Given the description of an element on the screen output the (x, y) to click on. 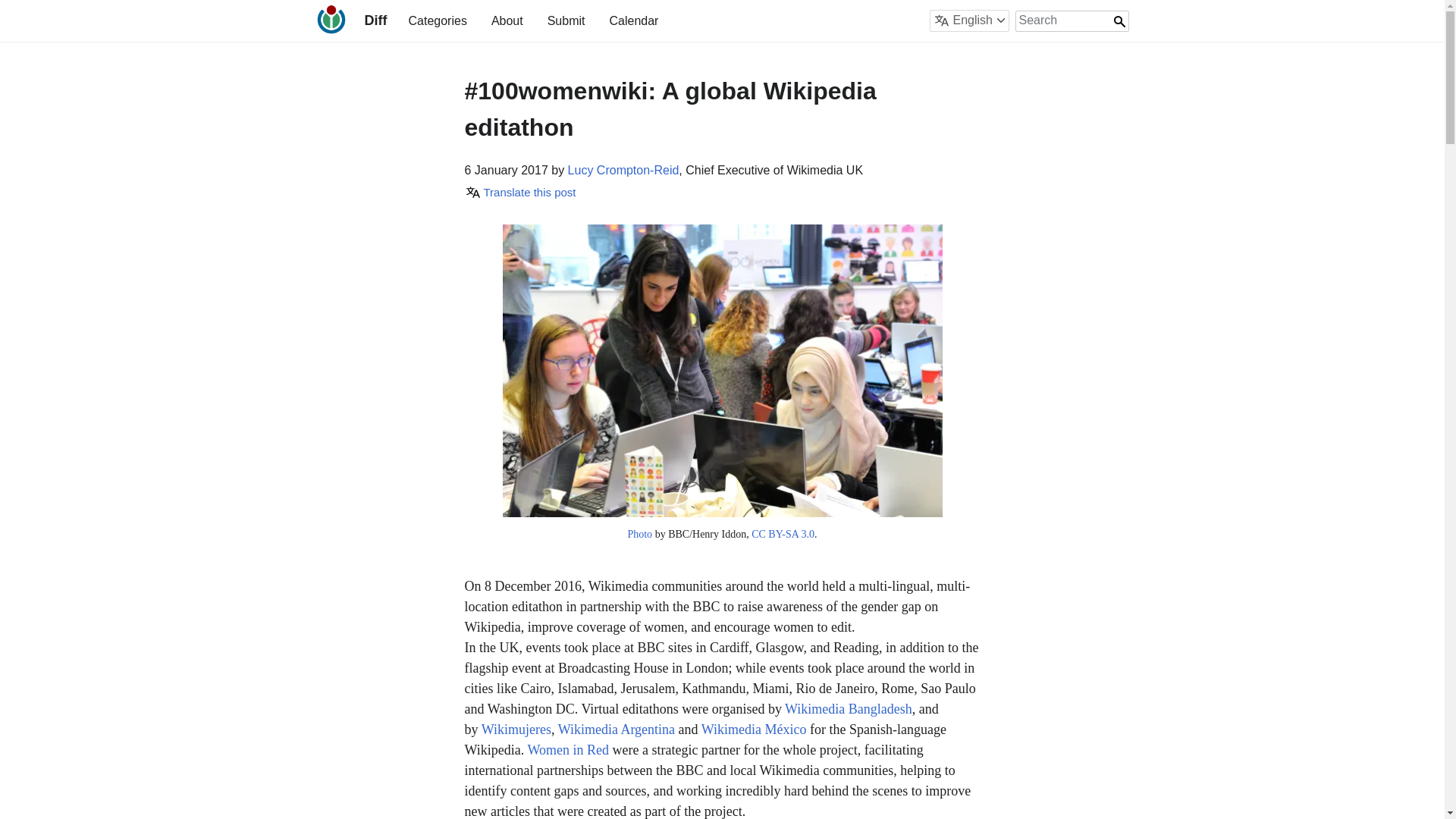
About (506, 20)
Wikimujeres (516, 729)
Photo (639, 533)
Translate this post (519, 192)
Women in Red (567, 749)
CC BY-SA 3.0 (782, 533)
Diff (375, 20)
secondary-navigation (902, 20)
main-navigation (532, 20)
Posts by Lucy Crompton-Reid (623, 169)
